Given the description of an element on the screen output the (x, y) to click on. 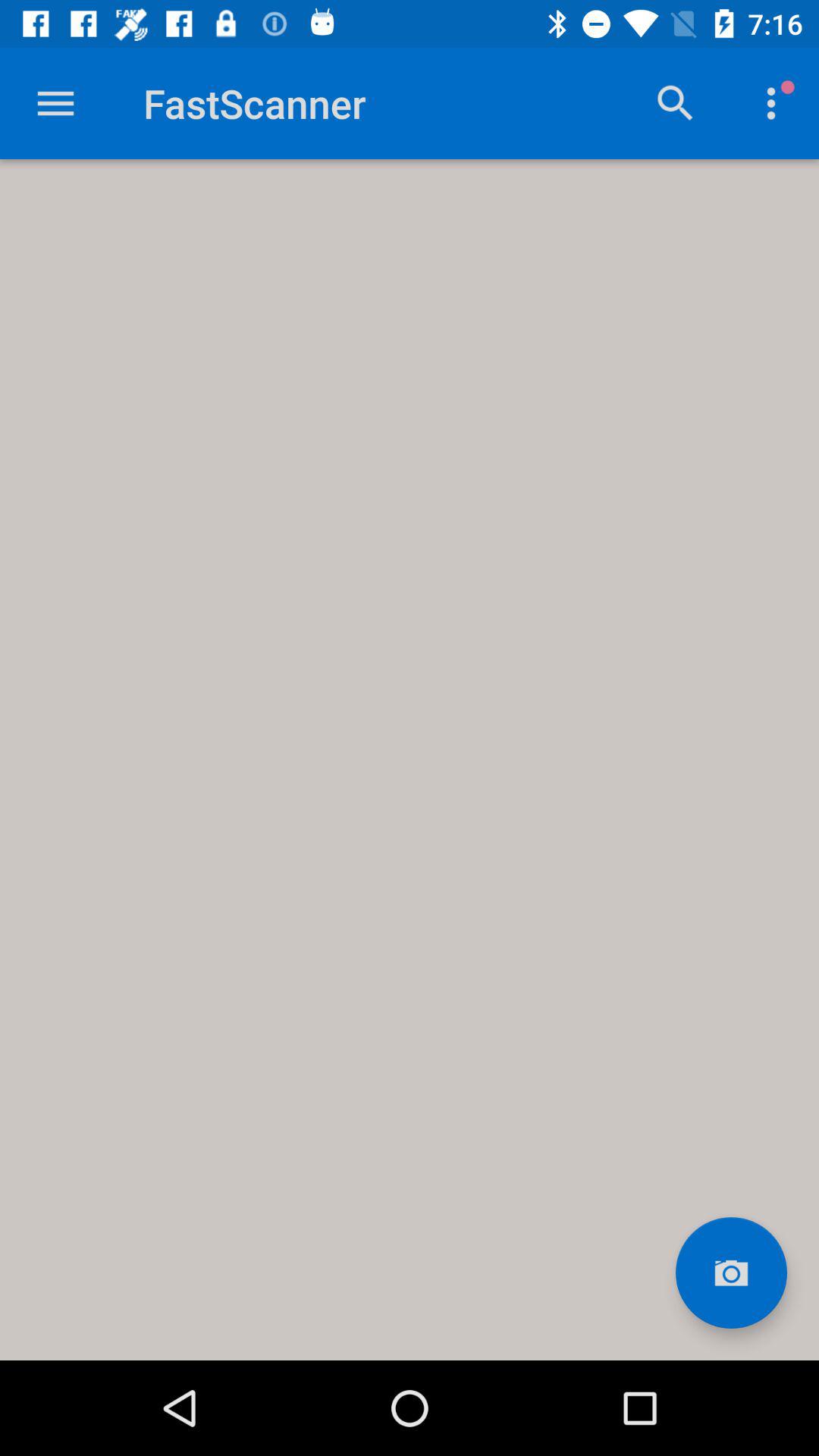
open camera option (731, 1272)
